Given the description of an element on the screen output the (x, y) to click on. 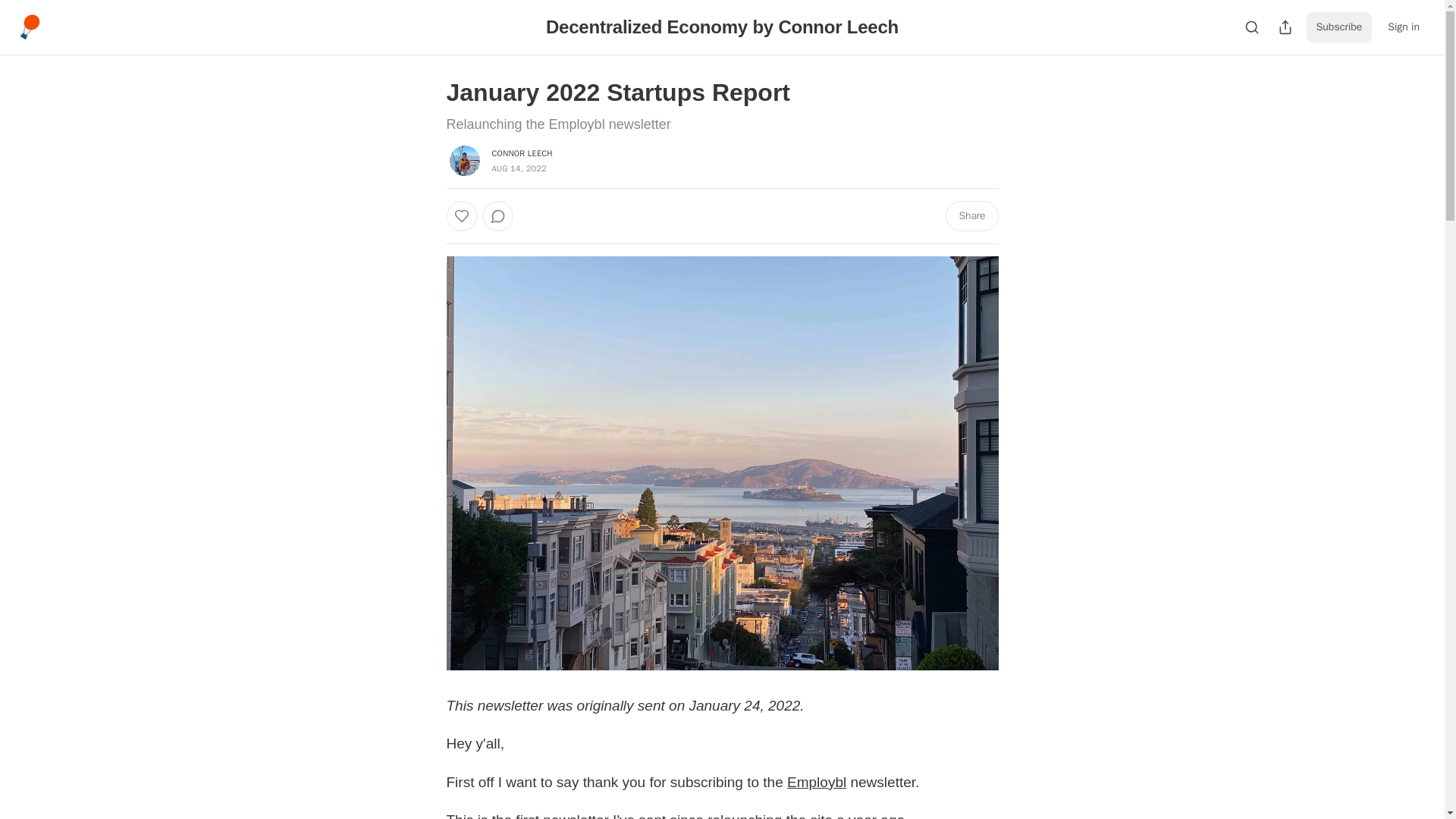
Subscribe (1339, 27)
Decentralized Economy by Connor Leech (722, 26)
Employbl (816, 781)
Sign in (1403, 27)
Share (970, 215)
CONNOR LEECH (521, 153)
